Given the description of an element on the screen output the (x, y) to click on. 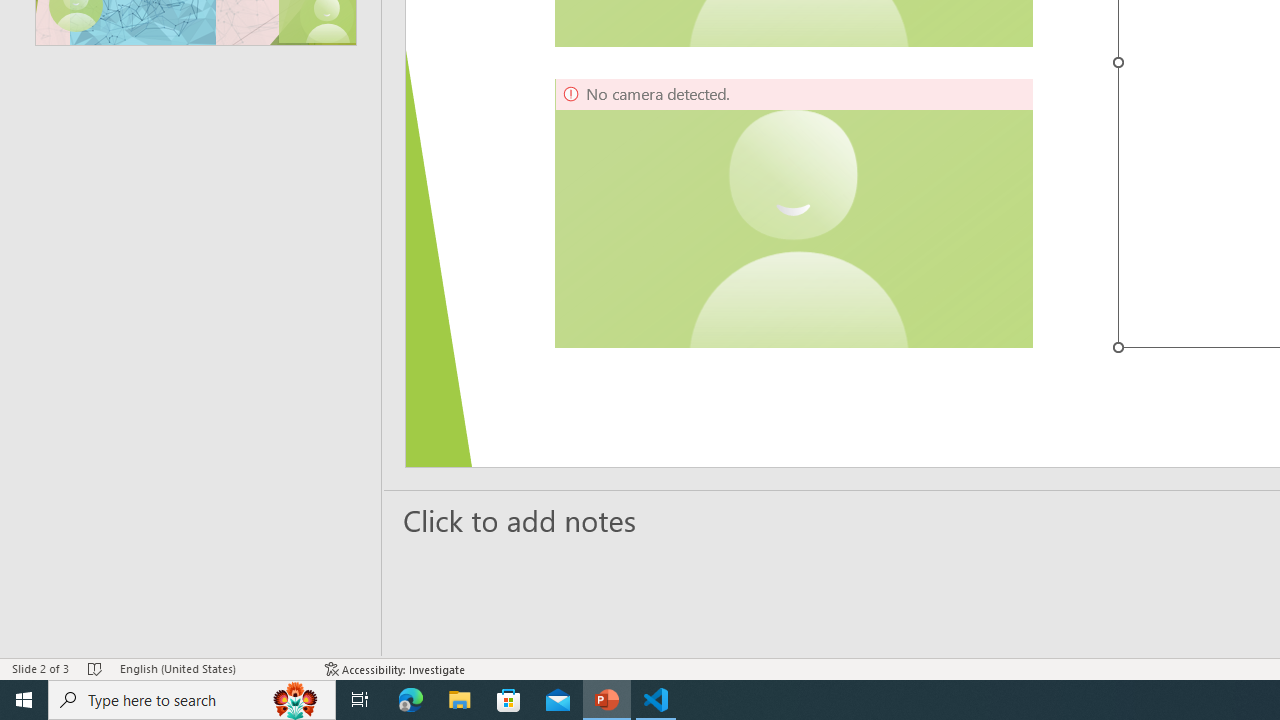
Camera 5, No camera detected. (794, 213)
